Given the description of an element on the screen output the (x, y) to click on. 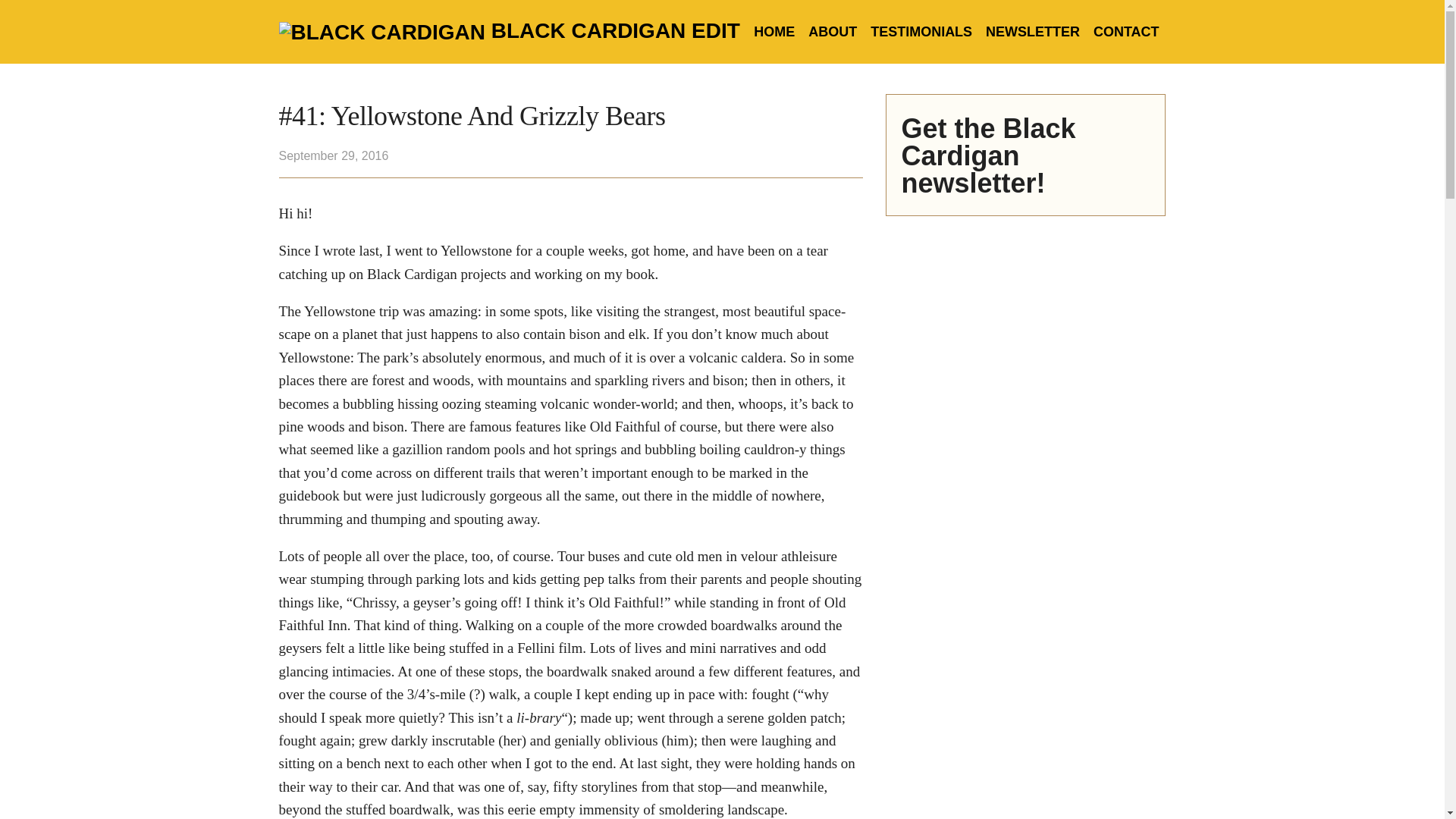
ABOUT (832, 31)
BLACK CARDIGAN EDIT (615, 30)
TESTIMONIALS (920, 31)
NEWSLETTER (1032, 31)
CONTACT (1126, 31)
HOME (774, 31)
